Given the description of an element on the screen output the (x, y) to click on. 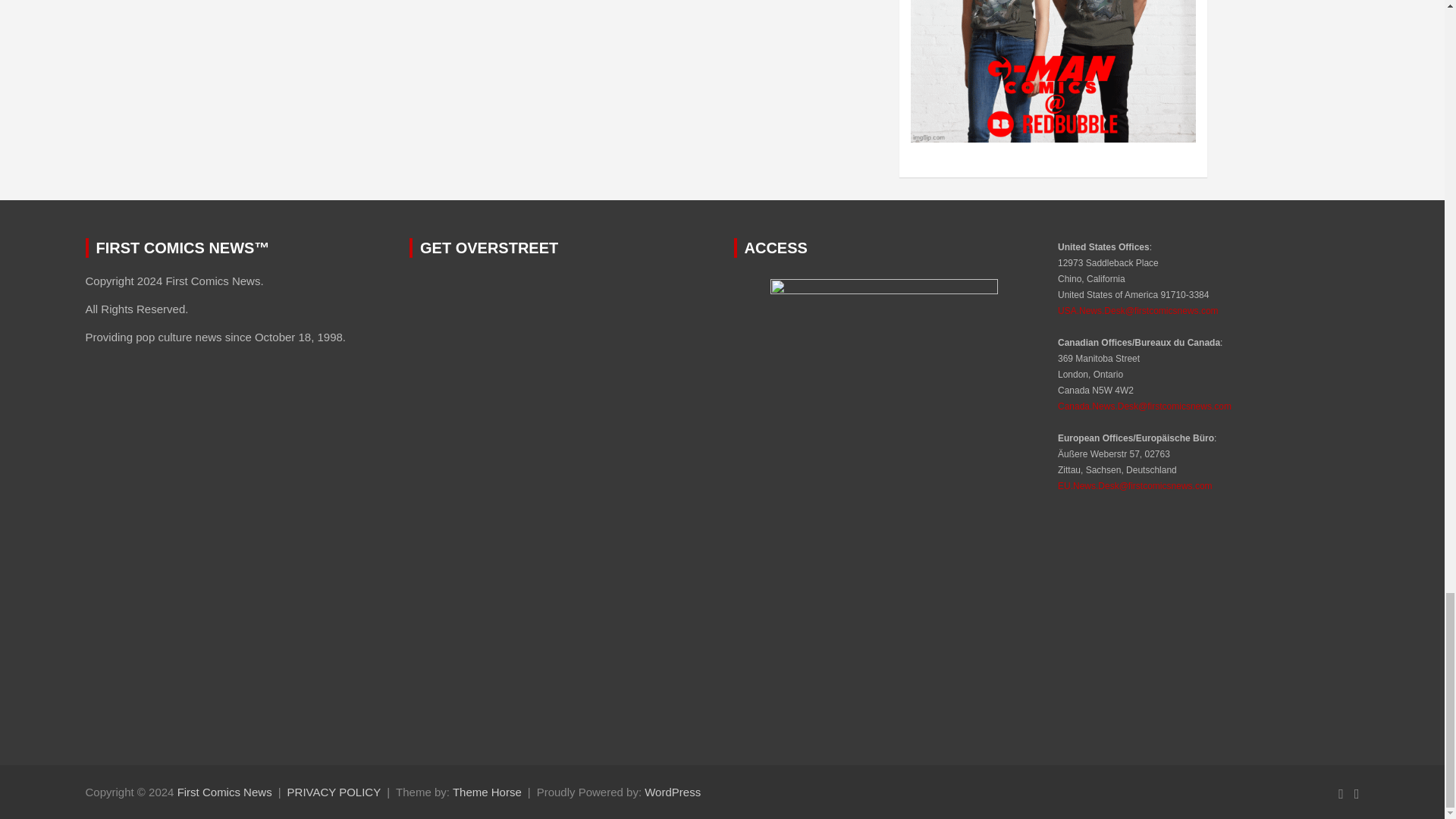
First Comics News (224, 791)
Theme Horse (486, 791)
WordPress (672, 791)
